Given the description of an element on the screen output the (x, y) to click on. 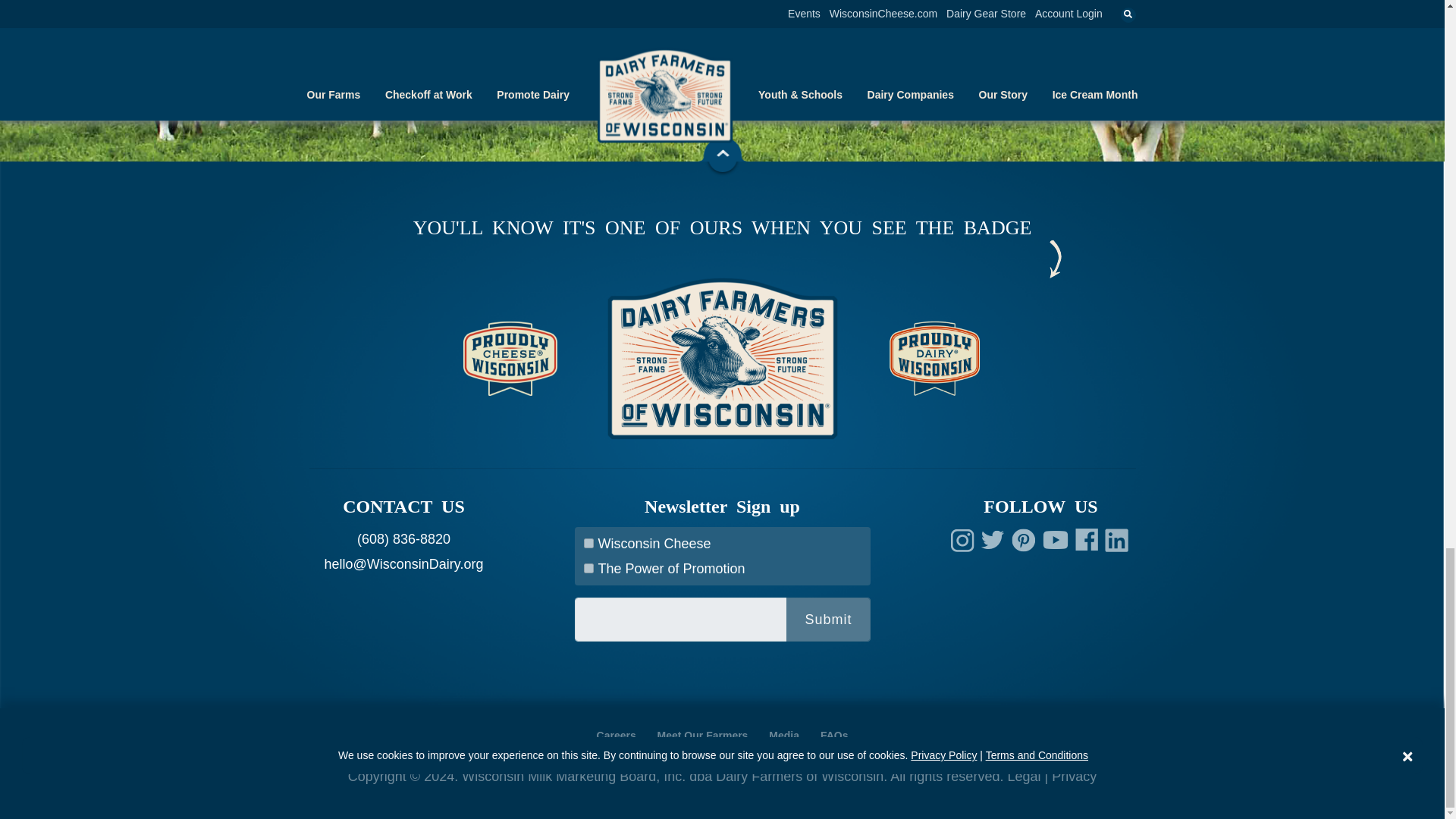
1332480461 (588, 568)
2080153703 (588, 542)
Submit (827, 619)
